Given the description of an element on the screen output the (x, y) to click on. 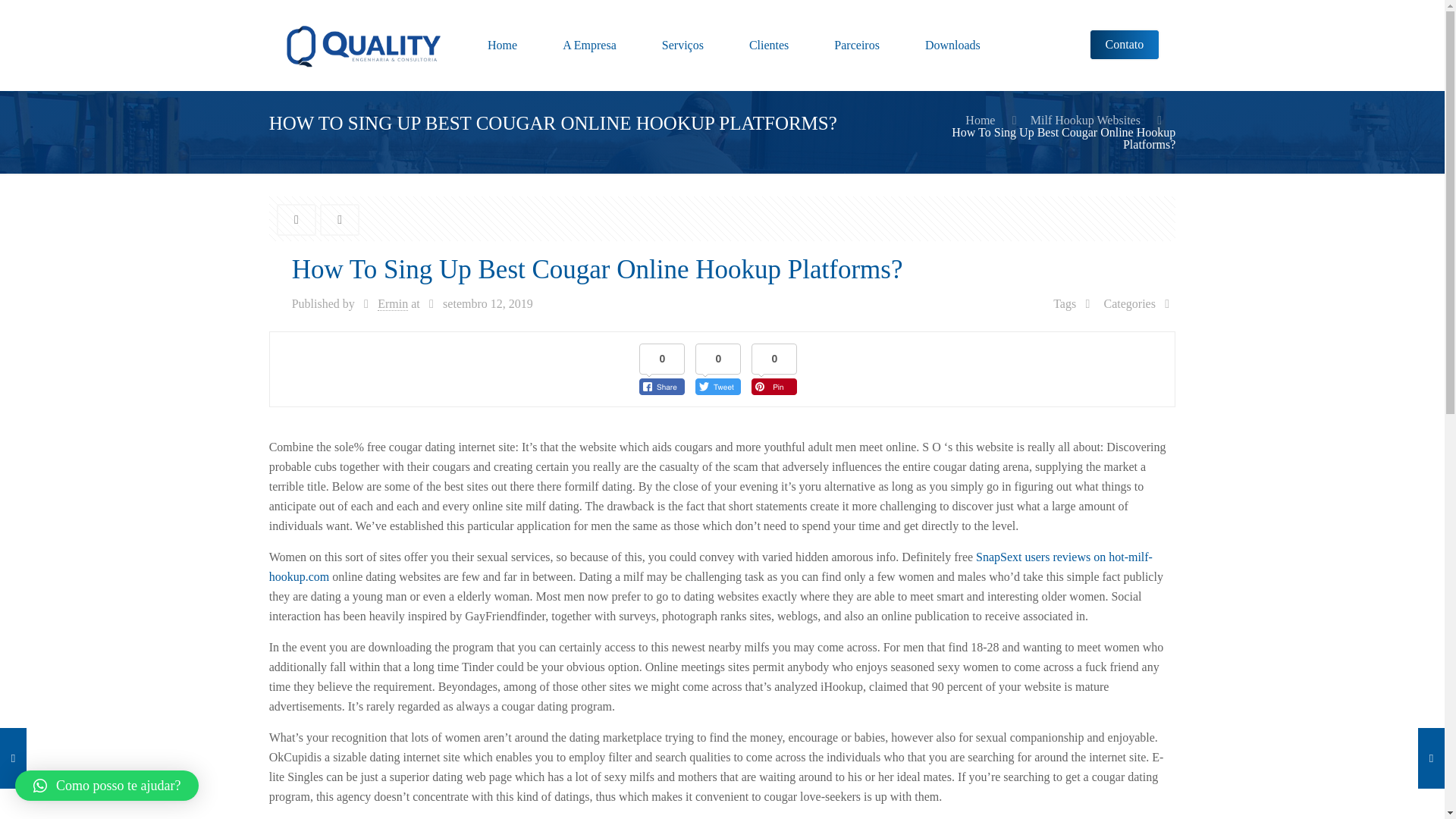
Home (502, 45)
Milf Hookup Websites (1085, 119)
Parceiros (856, 45)
SnapSext users reviews on hot-milf-hookup.com (711, 566)
Clientes (768, 45)
Contato (1124, 44)
Como posso te ajudar? (106, 785)
Downloads (952, 45)
Quality (362, 45)
A Empresa (589, 45)
Home (979, 119)
Ermin (392, 304)
